Given the description of an element on the screen output the (x, y) to click on. 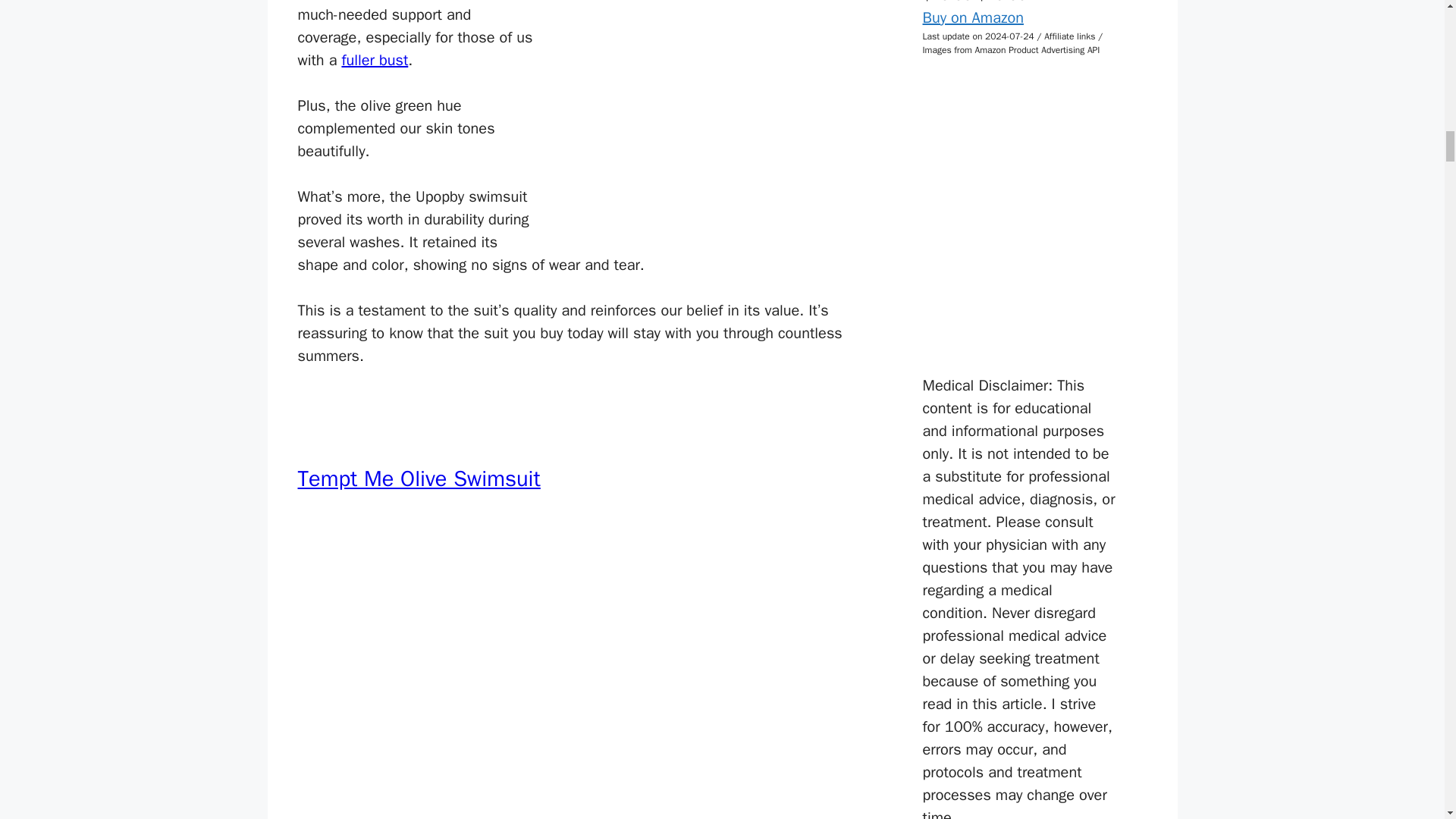
model wearing Upopby Olive Swimsuit (710, 123)
Tempt Me Olive Swimsuit (418, 479)
fuller bust (373, 59)
